Given the description of an element on the screen output the (x, y) to click on. 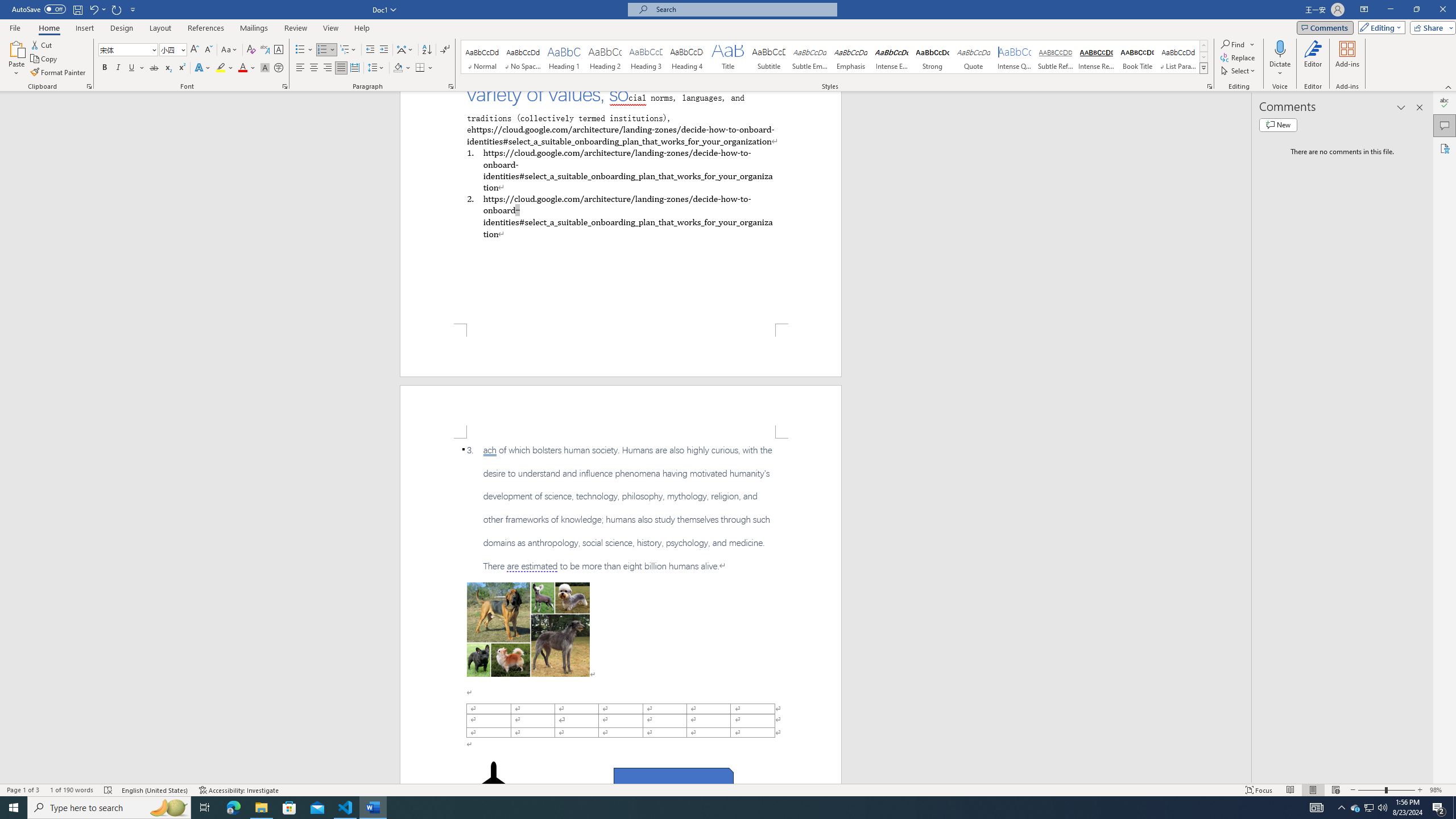
Class: NetUIScrollBar (1245, 437)
Line and Paragraph Spacing (376, 67)
Font (124, 49)
Styles (1203, 67)
Clear Formatting (250, 49)
Underline (136, 67)
Intense Quote (1014, 56)
Shrink Font (208, 49)
Styles... (1209, 85)
Show/Hide Editing Marks (444, 49)
Mailings (253, 28)
Title (727, 56)
Font Color Automatic (241, 67)
Morphological variation in six dogs (528, 629)
Intense Reference (1095, 56)
